Given the description of an element on the screen output the (x, y) to click on. 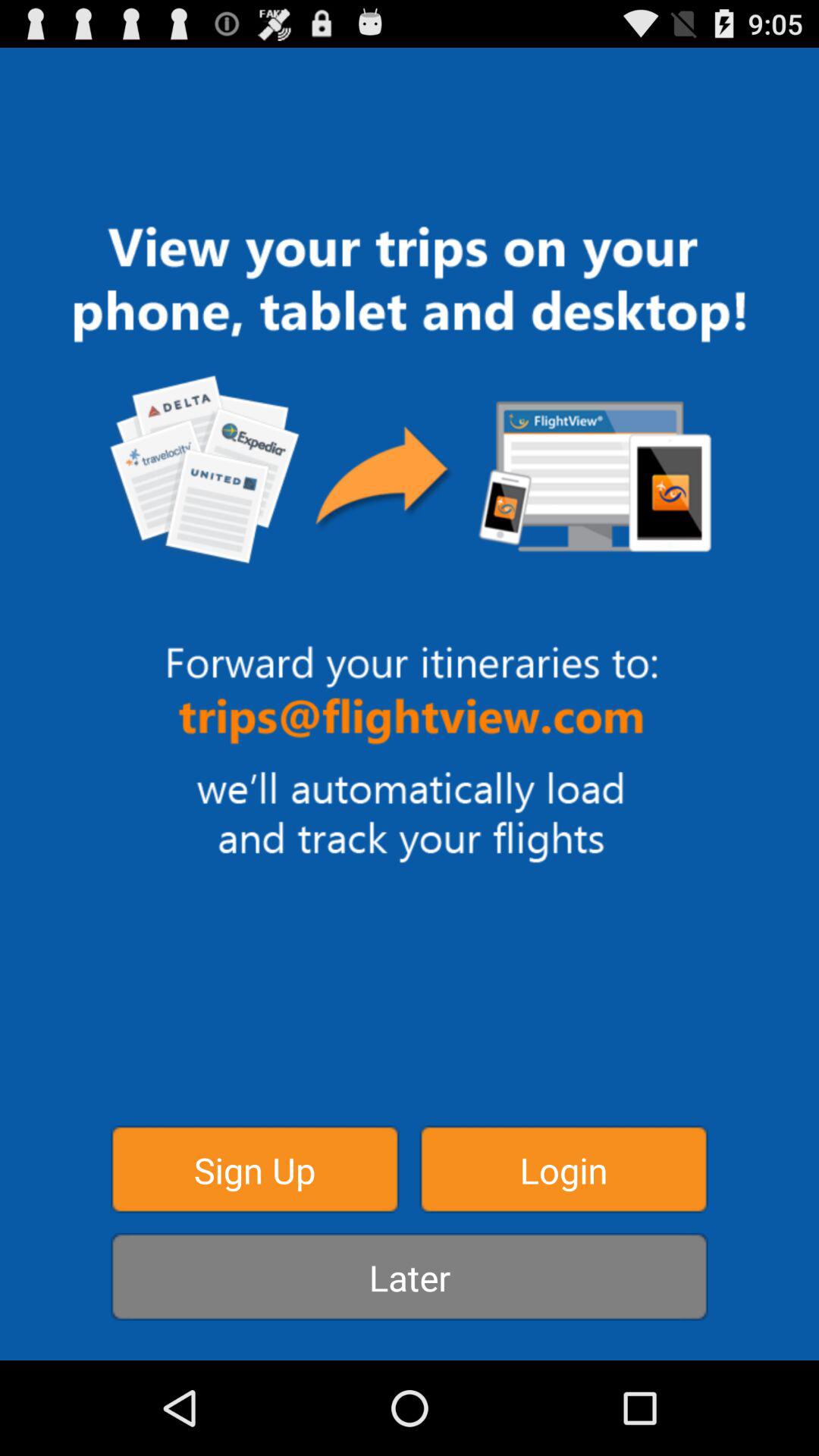
press later icon (409, 1276)
